Given the description of an element on the screen output the (x, y) to click on. 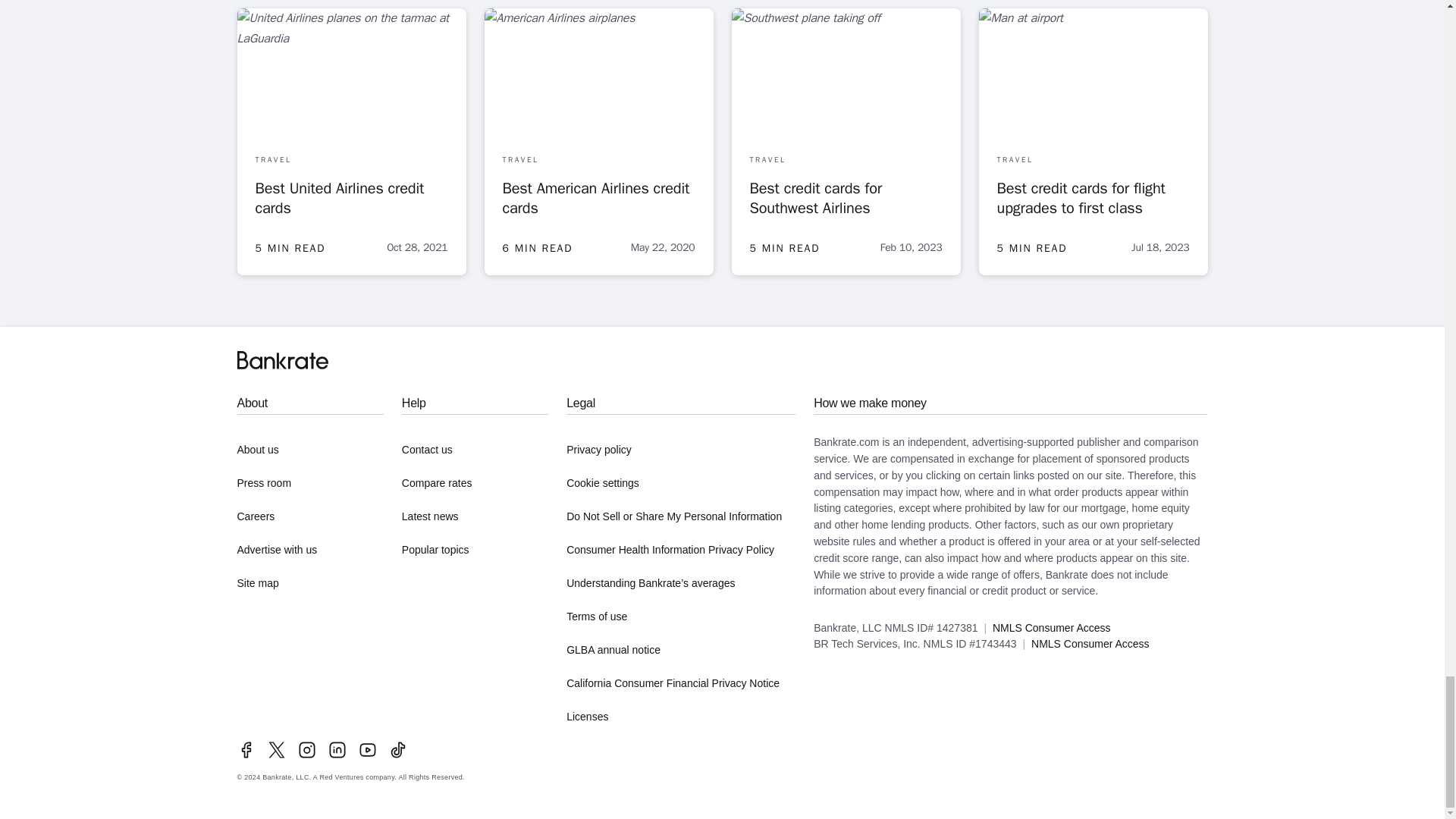
Facebook logo (244, 750)
Instagram logo (306, 750)
YouTube logo (366, 750)
LinkedIn logo (336, 750)
TikTok logo (397, 750)
Twitter logo (275, 750)
Bankrate (281, 360)
